Given the description of an element on the screen output the (x, y) to click on. 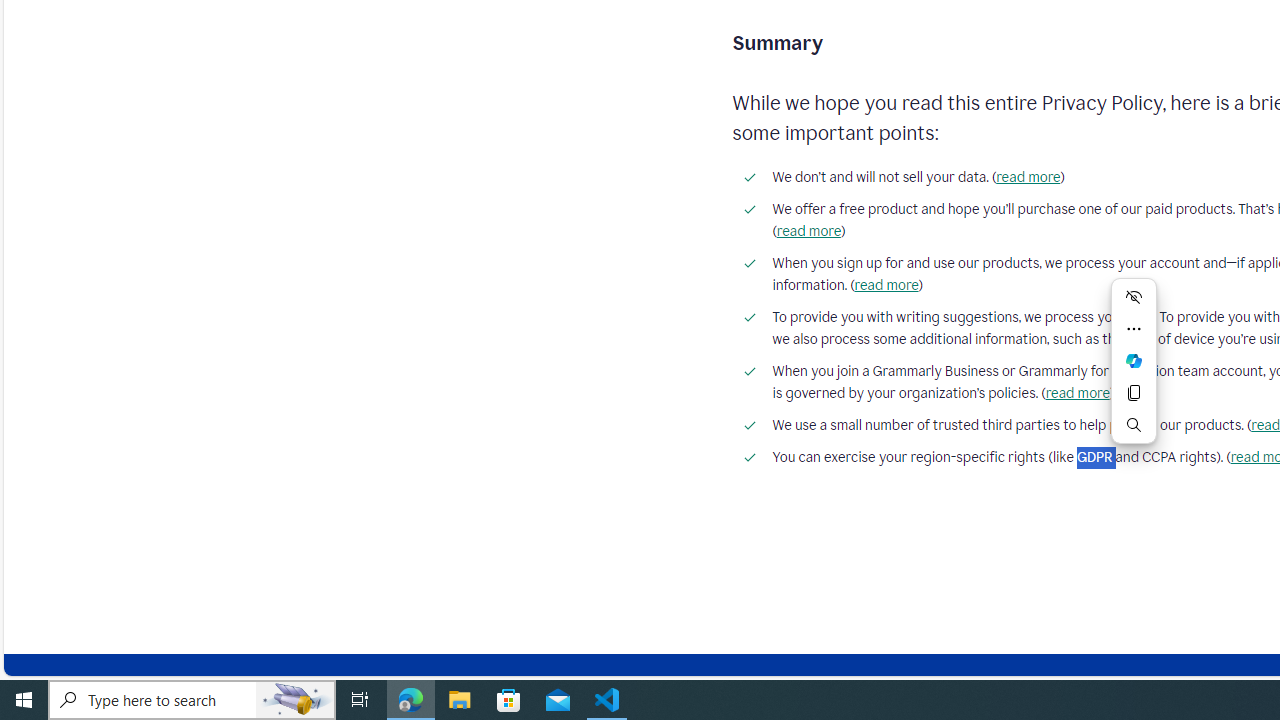
Copy (1133, 392)
More actions (1133, 328)
Mini menu on text selection (1133, 360)
Hide menu (1133, 296)
Mini menu on text selection (1133, 372)
read more (1076, 393)
Ask Copilot (1133, 360)
